Given the description of an element on the screen output the (x, y) to click on. 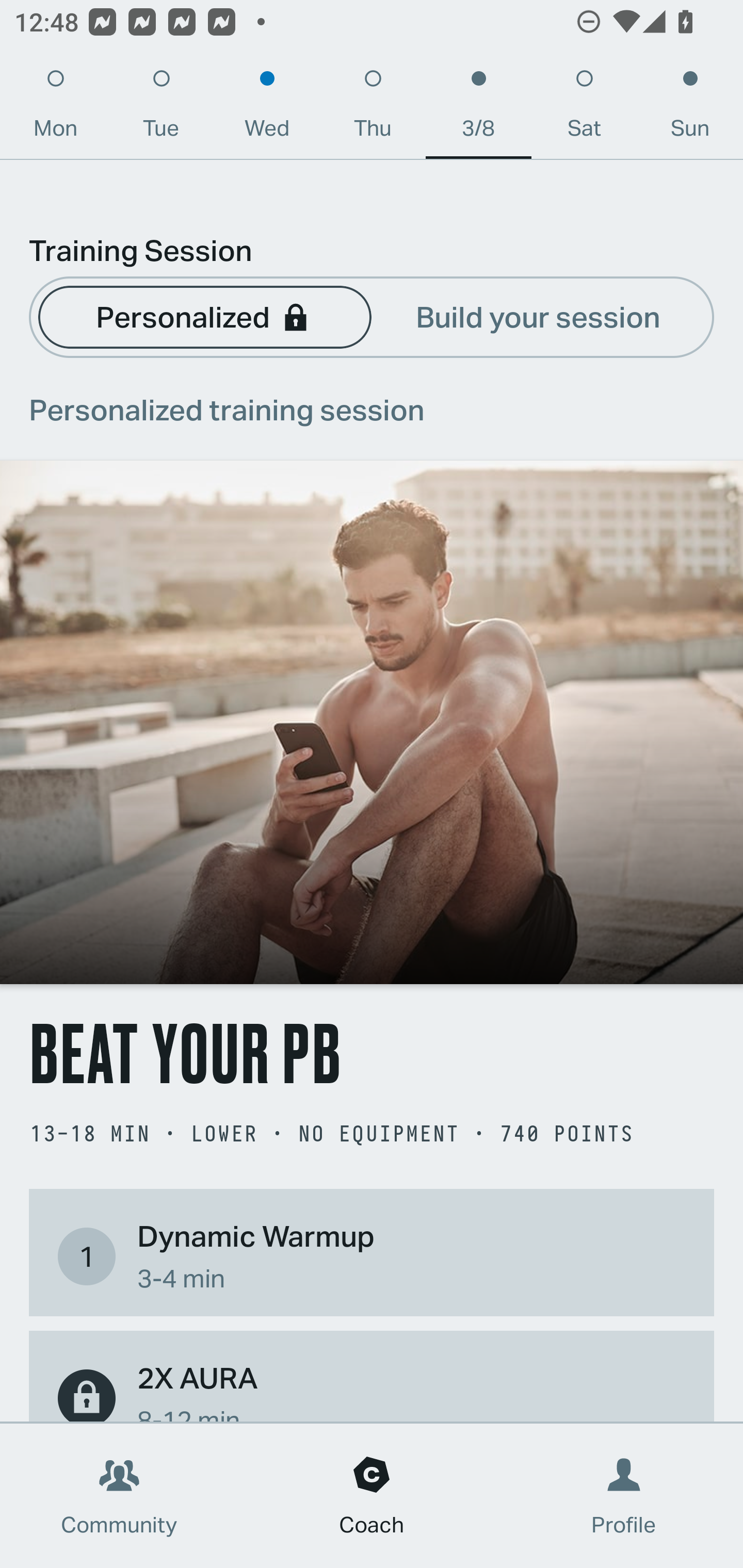
Mon (55, 108)
Tue (160, 108)
Wed (266, 108)
Thu (372, 108)
3/8 (478, 108)
Sat (584, 108)
Sun (690, 108)
Personalized (204, 315)
Build your session (538, 315)
1 Dynamic Warmup 3-4 min (371, 1256)
2X AURA 8-12 min (371, 1388)
Community (119, 1495)
Profile (624, 1495)
